Given the description of an element on the screen output the (x, y) to click on. 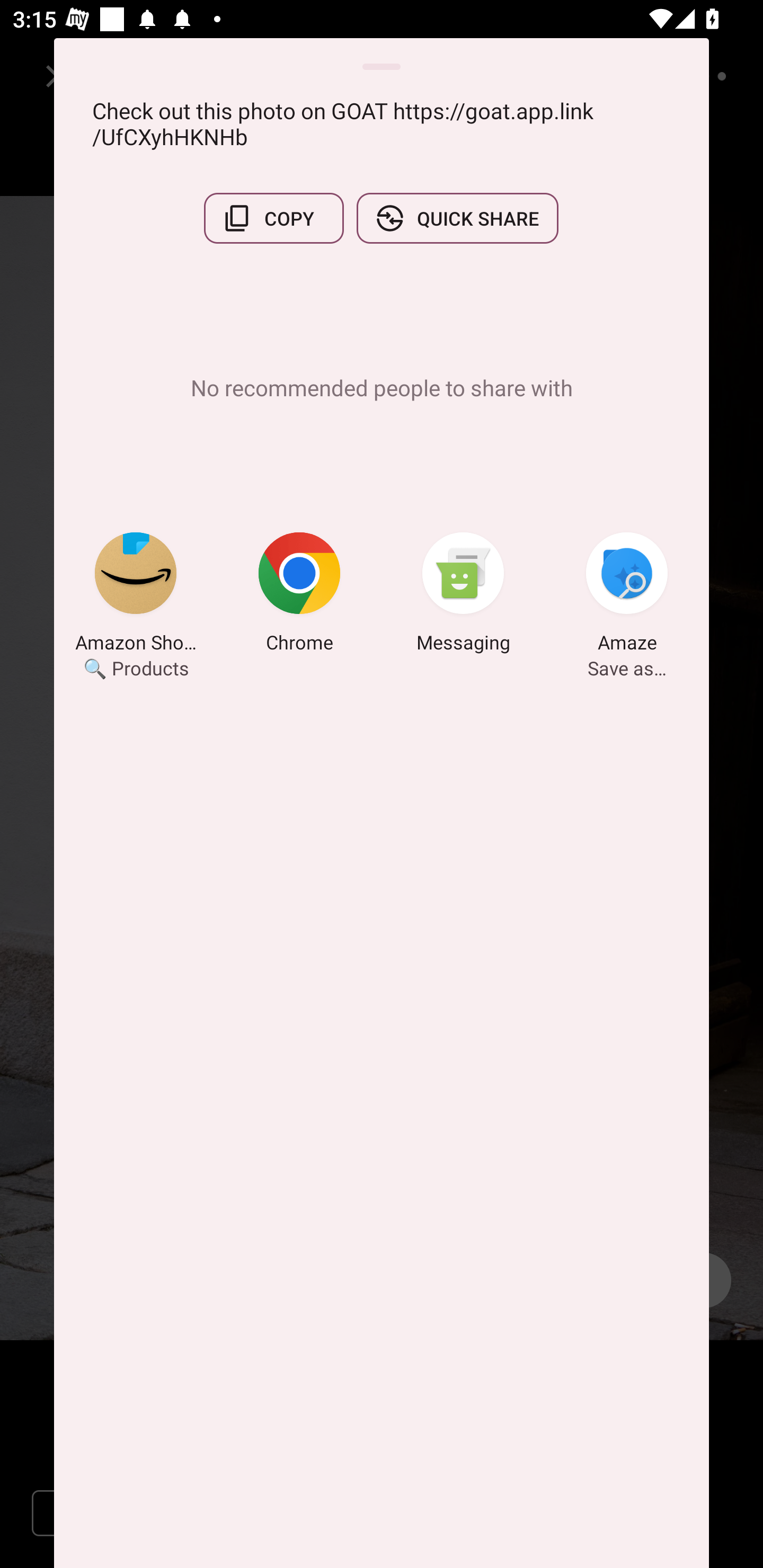
COPY (273, 218)
QUICK SHARE (457, 218)
Amazon Shopping 🔍 Products (135, 594)
Chrome (299, 594)
Messaging (463, 594)
Amaze Save as… (626, 594)
